Given the description of an element on the screen output the (x, y) to click on. 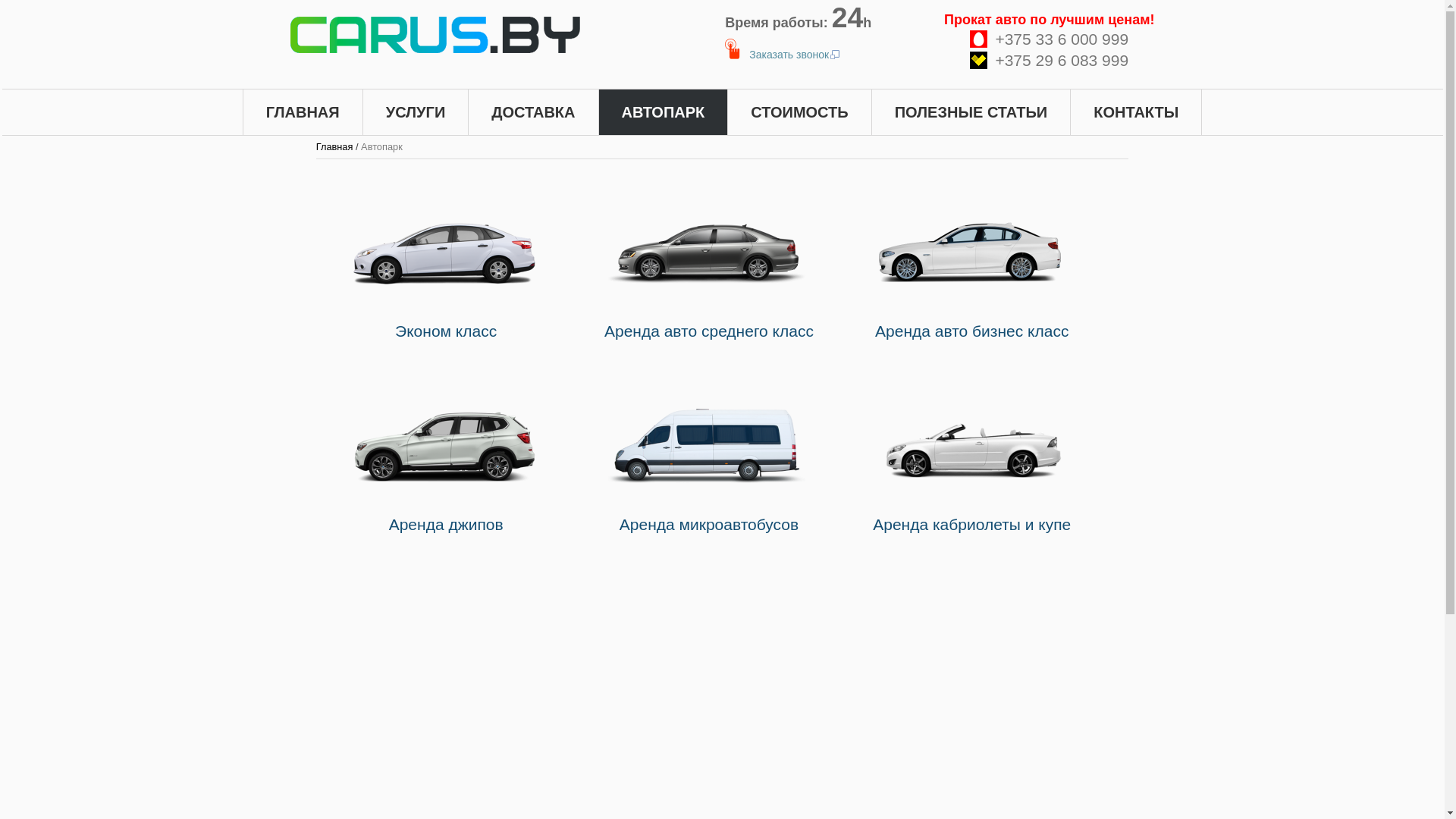
+375 33 6 000 999 Element type: text (1048, 38)
+375 29 6 083 999 Element type: text (1048, 60)
